Given the description of an element on the screen output the (x, y) to click on. 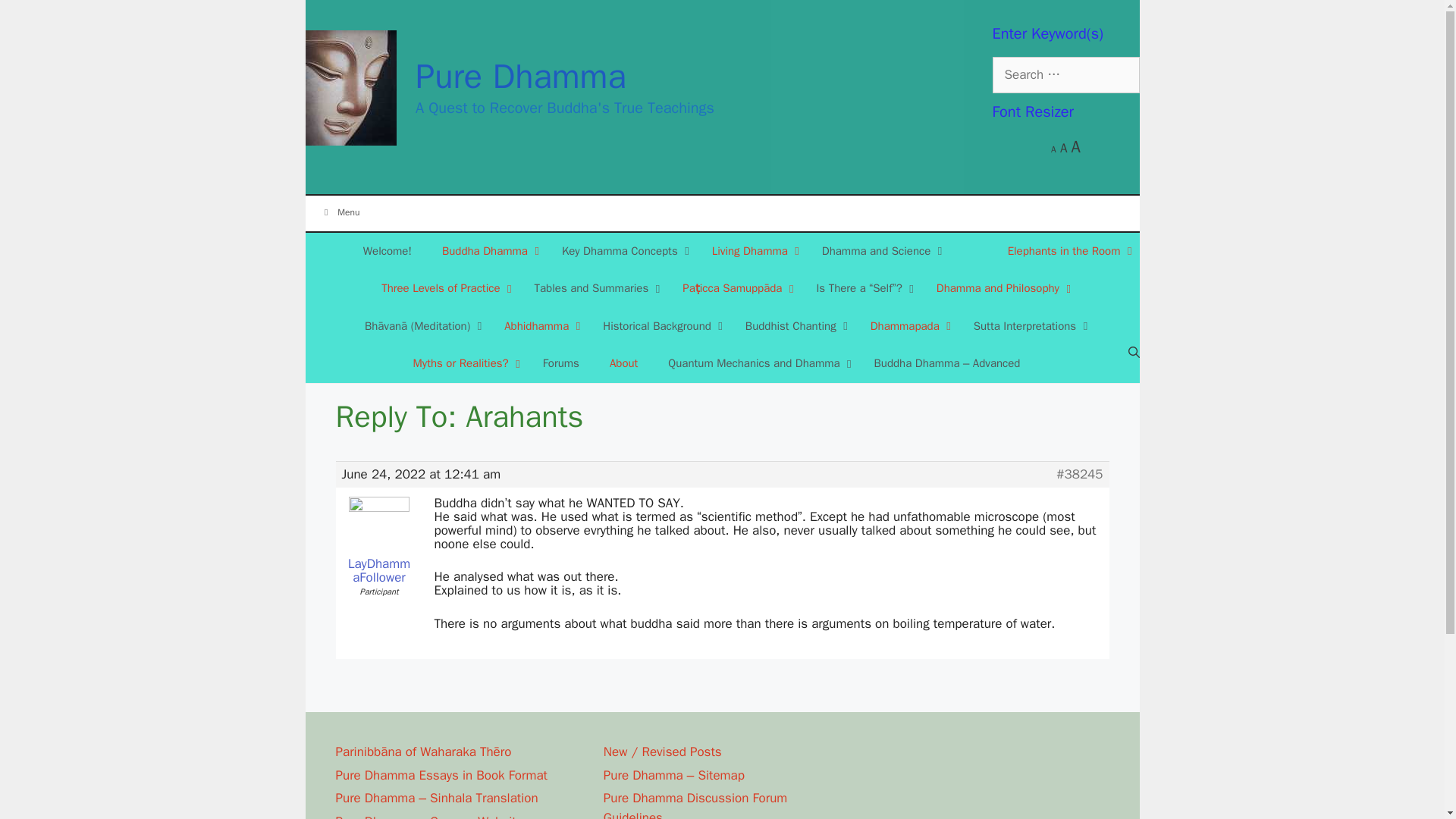
Pure Dhamma (520, 76)
Menu (721, 212)
View LayDhammaFollower's profile (378, 541)
Search for: (1064, 74)
Search (29, 15)
Welcome! (386, 251)
Elephants in the Room (1066, 251)
Buddha Dhamma (486, 251)
